Given the description of an element on the screen output the (x, y) to click on. 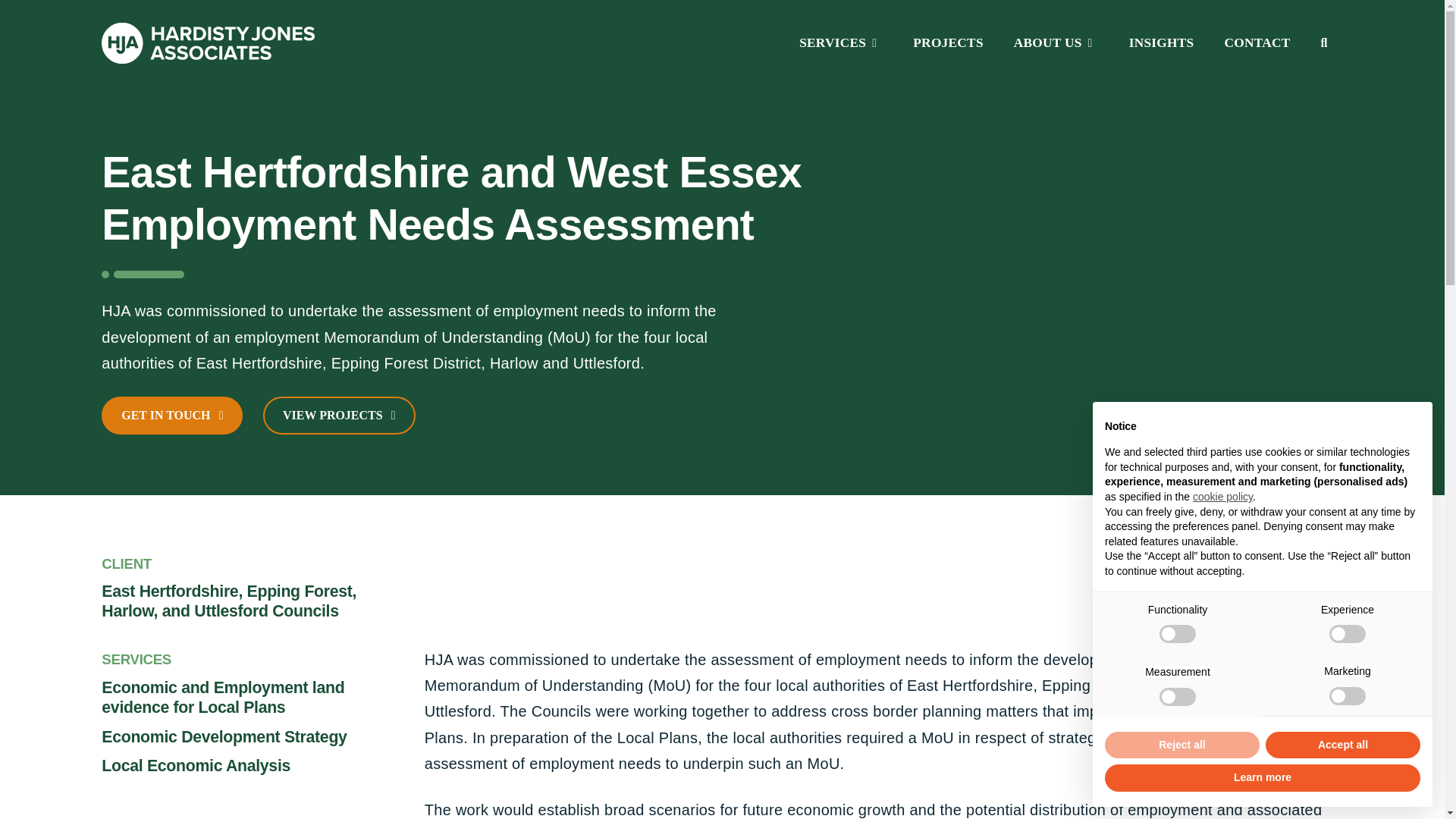
ABOUT US (1055, 42)
CONTACT (1256, 42)
false (1347, 633)
false (1176, 633)
false (1347, 696)
PROJECTS (947, 42)
SERVICES (841, 42)
INSIGHTS (1161, 42)
false (1176, 696)
